Given the description of an element on the screen output the (x, y) to click on. 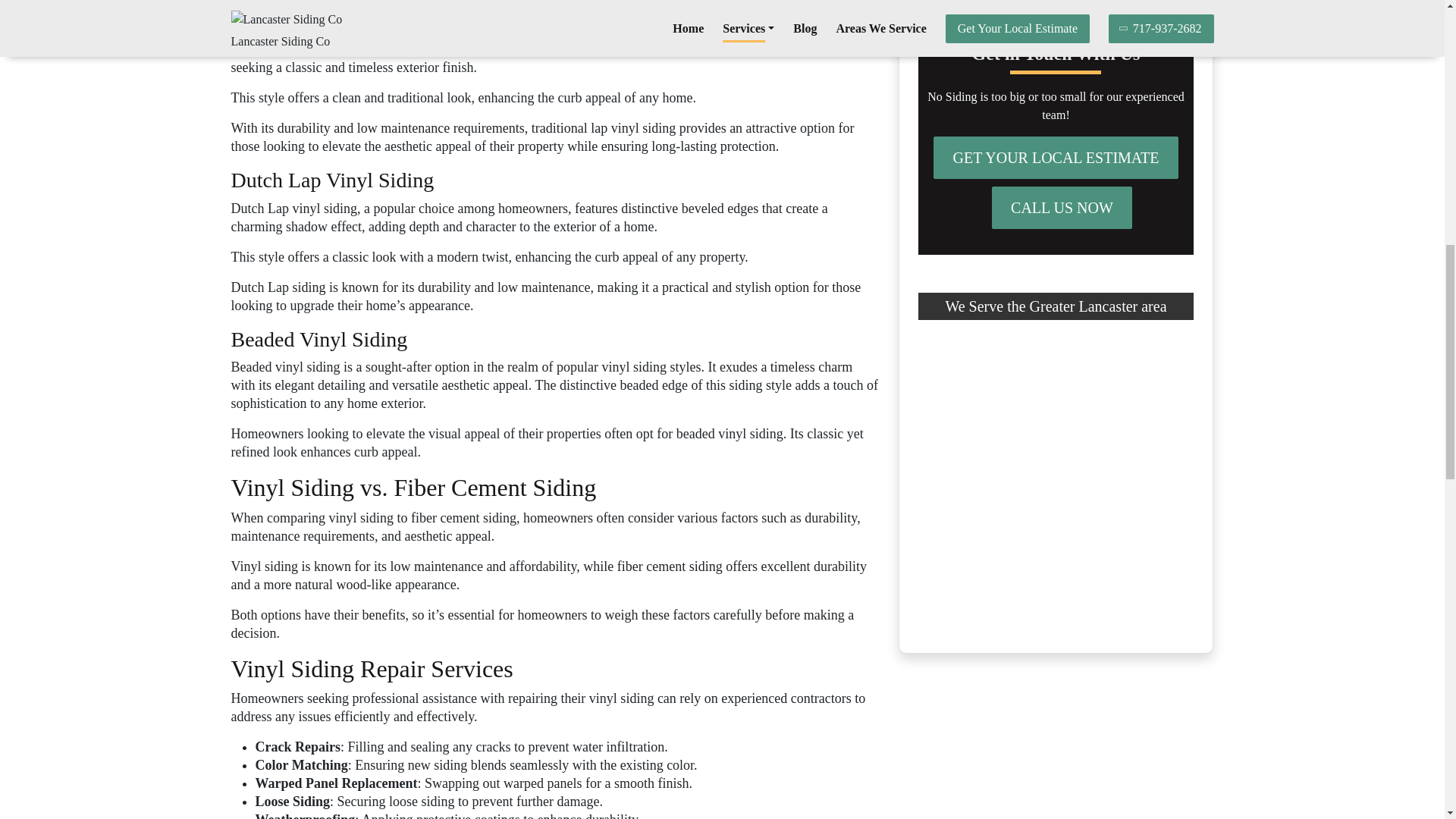
GET YOUR LOCAL ESTIMATE (1055, 157)
CALL US NOW (1061, 207)
